Given the description of an element on the screen output the (x, y) to click on. 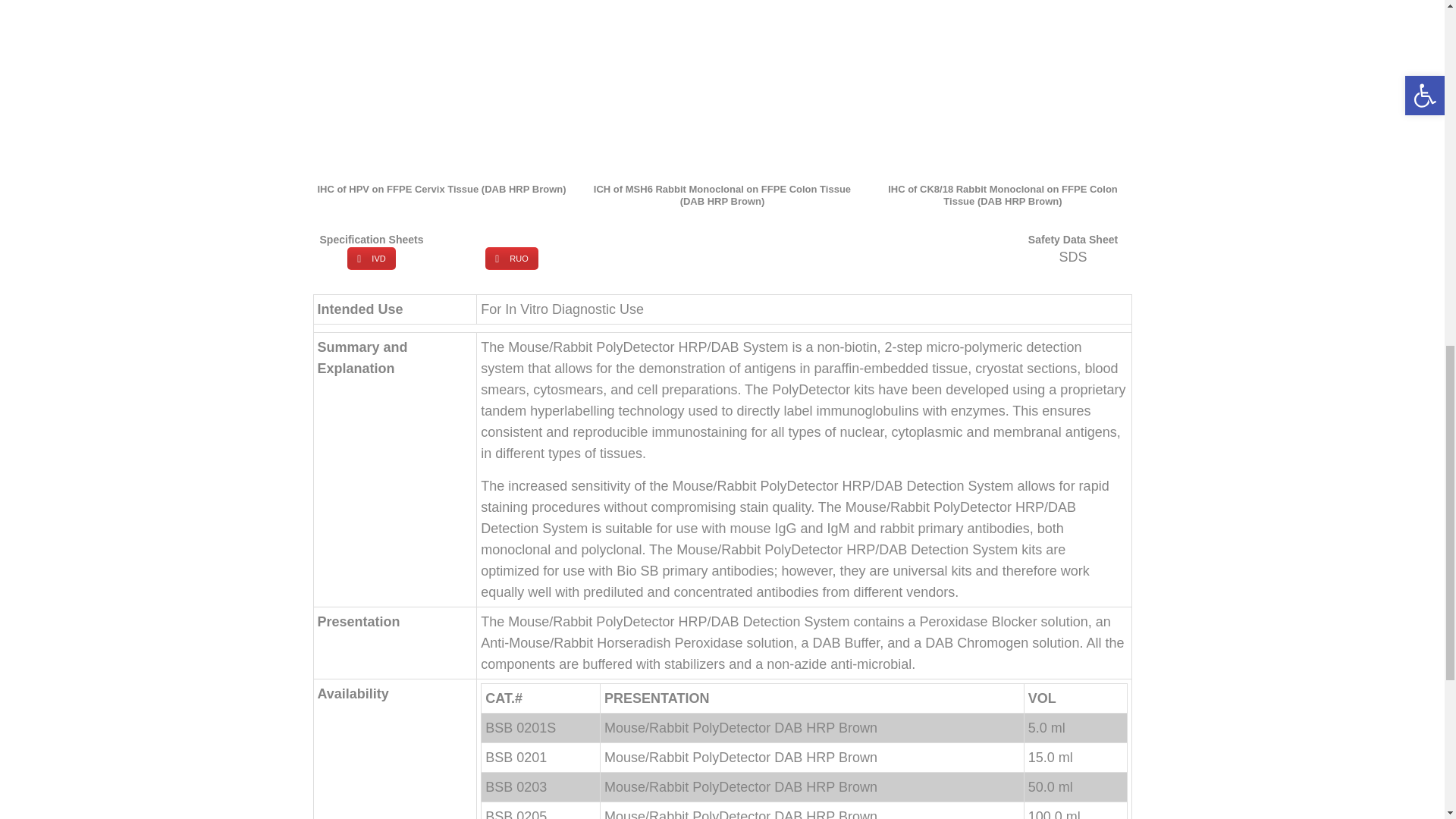
IVD (370, 258)
RUO (510, 258)
